Given the description of an element on the screen output the (x, y) to click on. 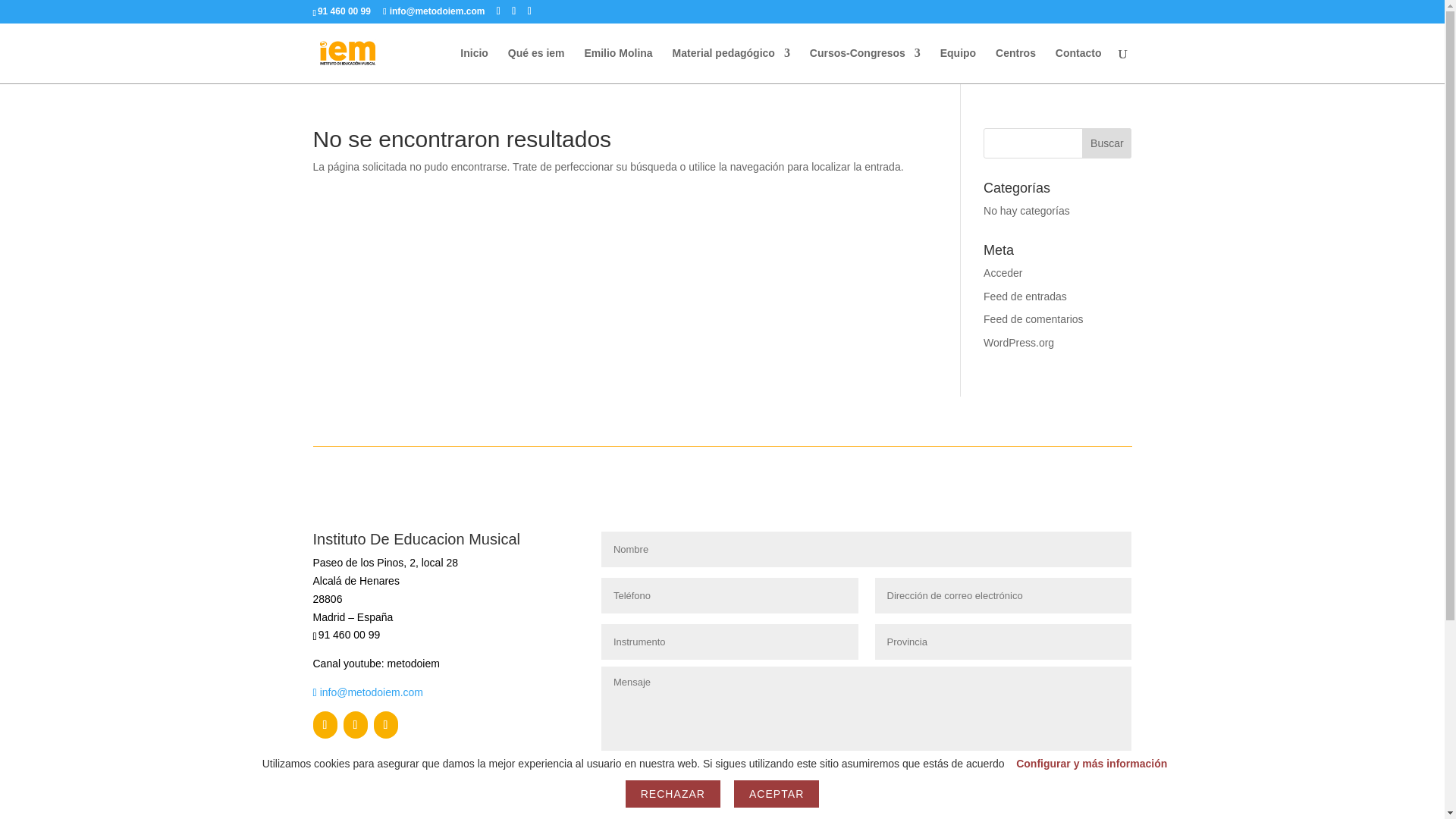
Centros (1015, 65)
Equipo (957, 65)
Buscar (1106, 142)
Cursos-Congresos (864, 65)
Emilio Molina (617, 65)
Seguir en Facebook (324, 724)
Contacto (1078, 65)
Seguir en Instagram (384, 724)
